Given the description of an element on the screen output the (x, y) to click on. 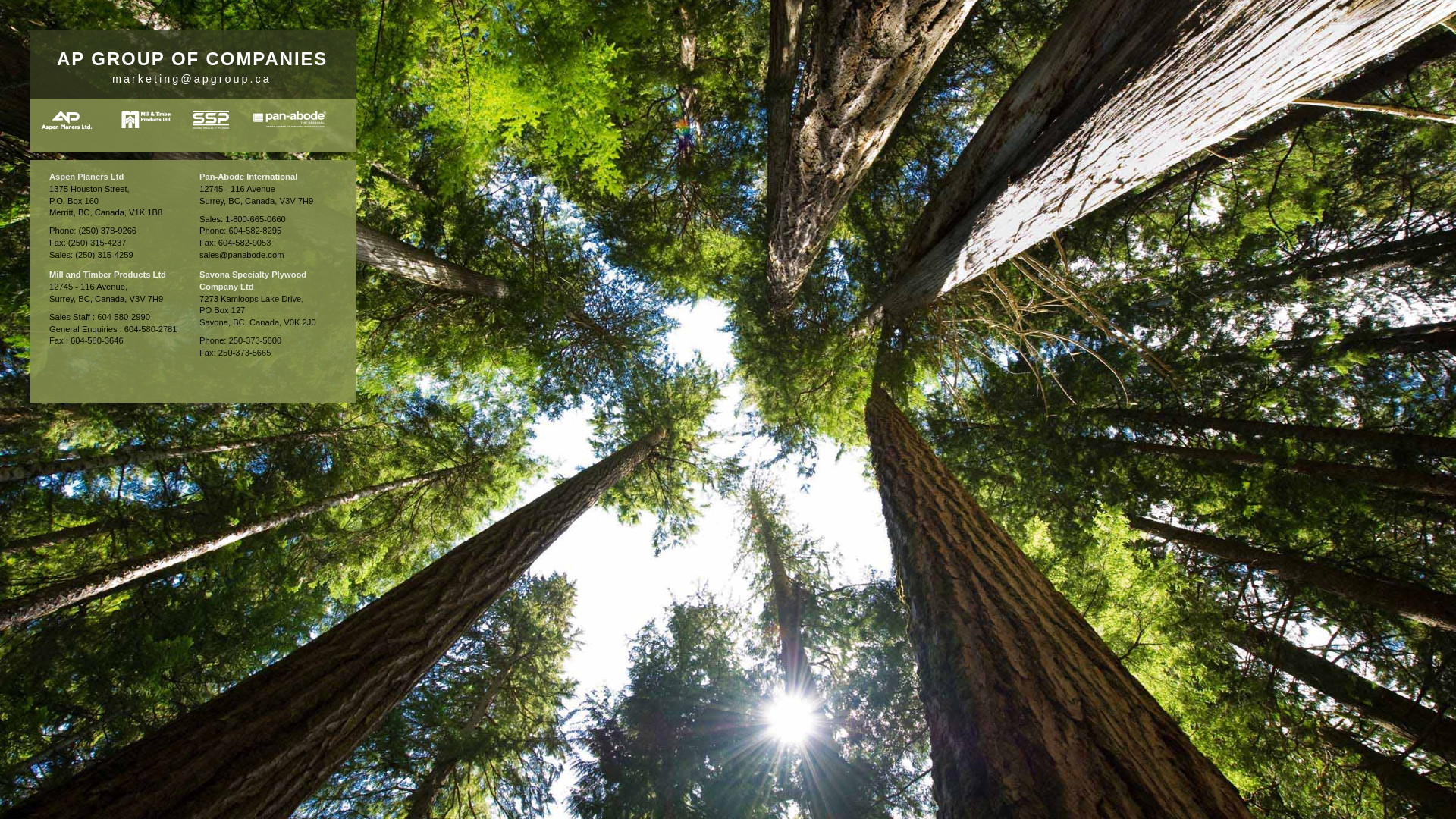
marketing@apgroup.ca Element type: text (191, 78)
Savonna Specialty Plywood Element type: text (210, 119)
Aspen Planers Element type: text (66, 119)
Panabode Element type: text (289, 119)
sales@panabode.com Element type: text (241, 254)
Mill & Timber Products Element type: text (146, 119)
